Given the description of an element on the screen output the (x, y) to click on. 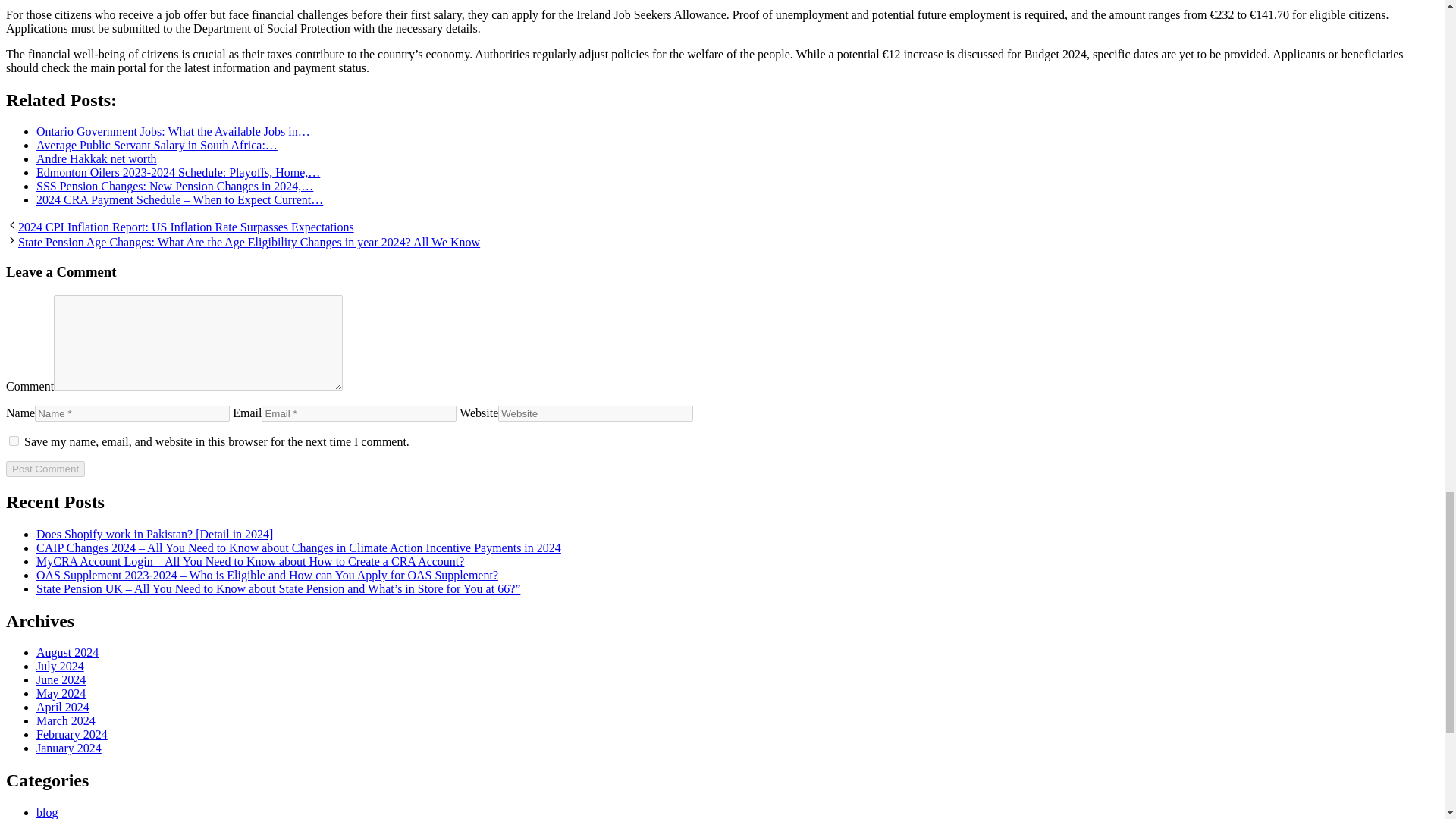
Post Comment (44, 468)
Post Comment (44, 468)
March 2024 (66, 720)
May 2024 (60, 693)
yes (13, 440)
Andre Hakkak net worth (96, 158)
July 2024 (60, 666)
June 2024 (60, 679)
August 2024 (67, 652)
